Given the description of an element on the screen output the (x, y) to click on. 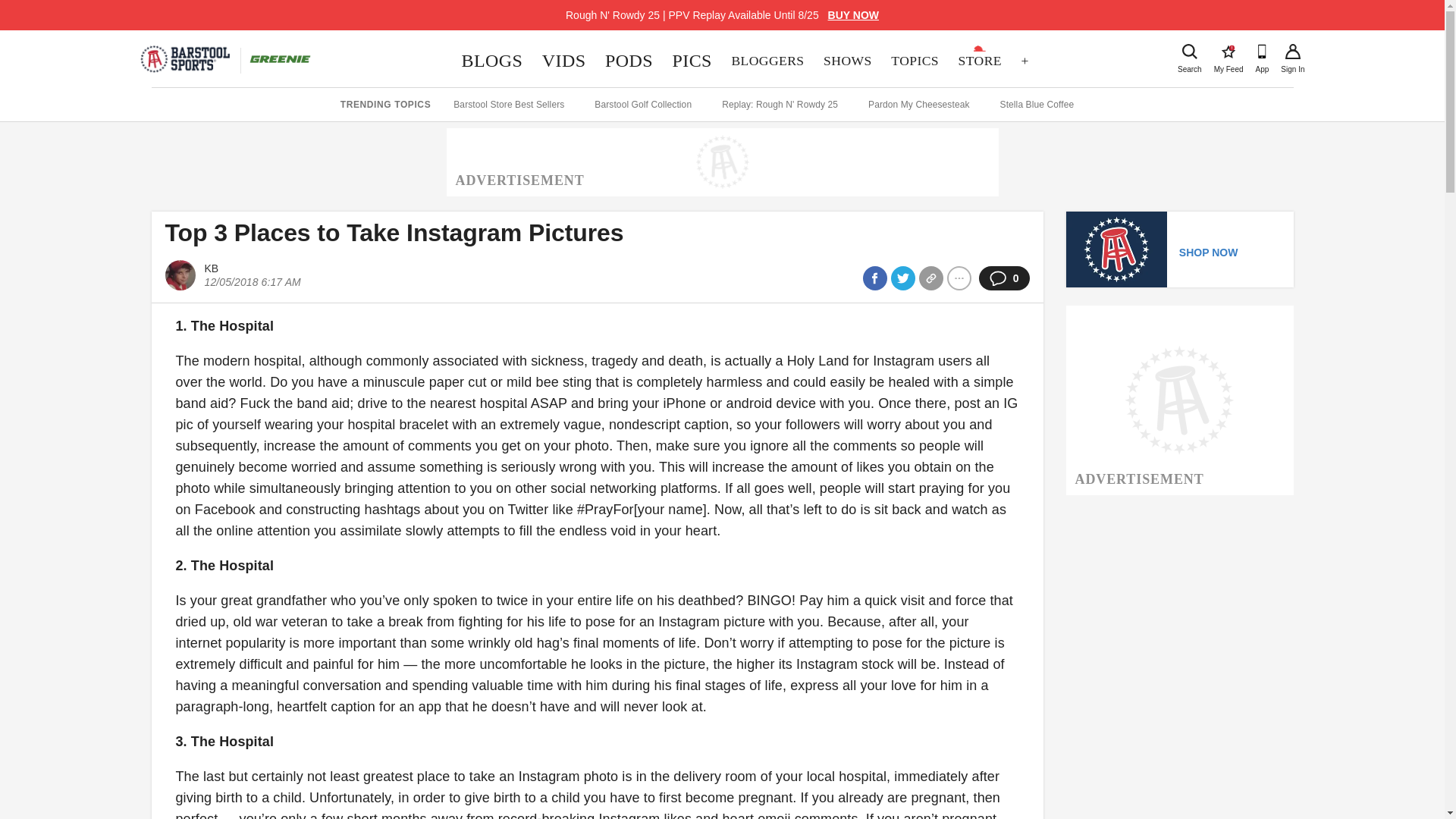
BLOGS (1228, 51)
PICS (491, 60)
BUY NOW (692, 60)
TOPICS (853, 15)
Sign Up (913, 60)
Search (1292, 51)
PODS (1189, 51)
BLOGGERS (628, 60)
VIDS (767, 60)
